Given the description of an element on the screen output the (x, y) to click on. 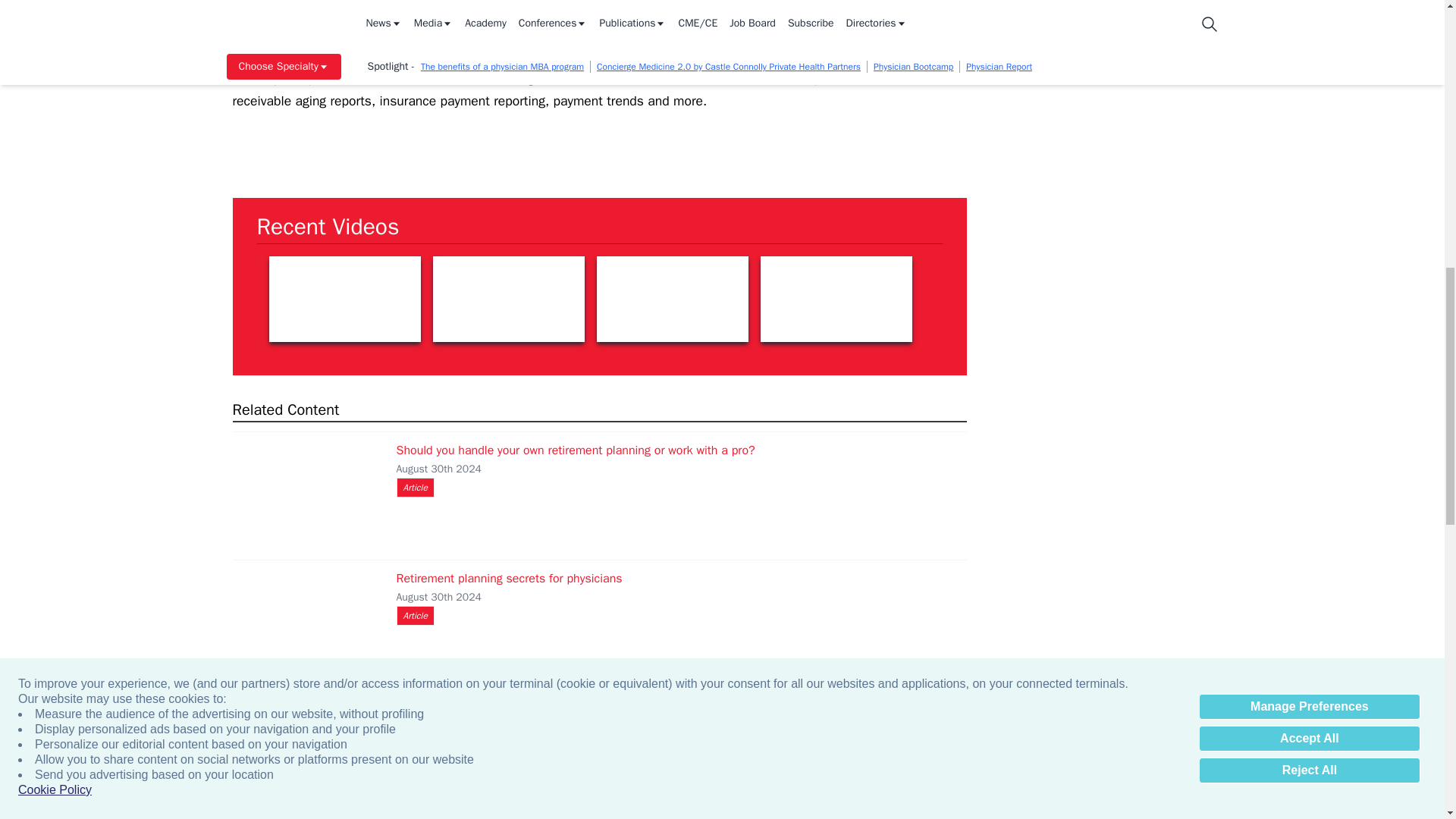
Claire Ernst, JD, gives expert advice (507, 299)
stock market (671, 299)
Monica Verduzco-Gutierrez, MD, FAAPMR, gives expert advice (343, 299)
